Given the description of an element on the screen output the (x, y) to click on. 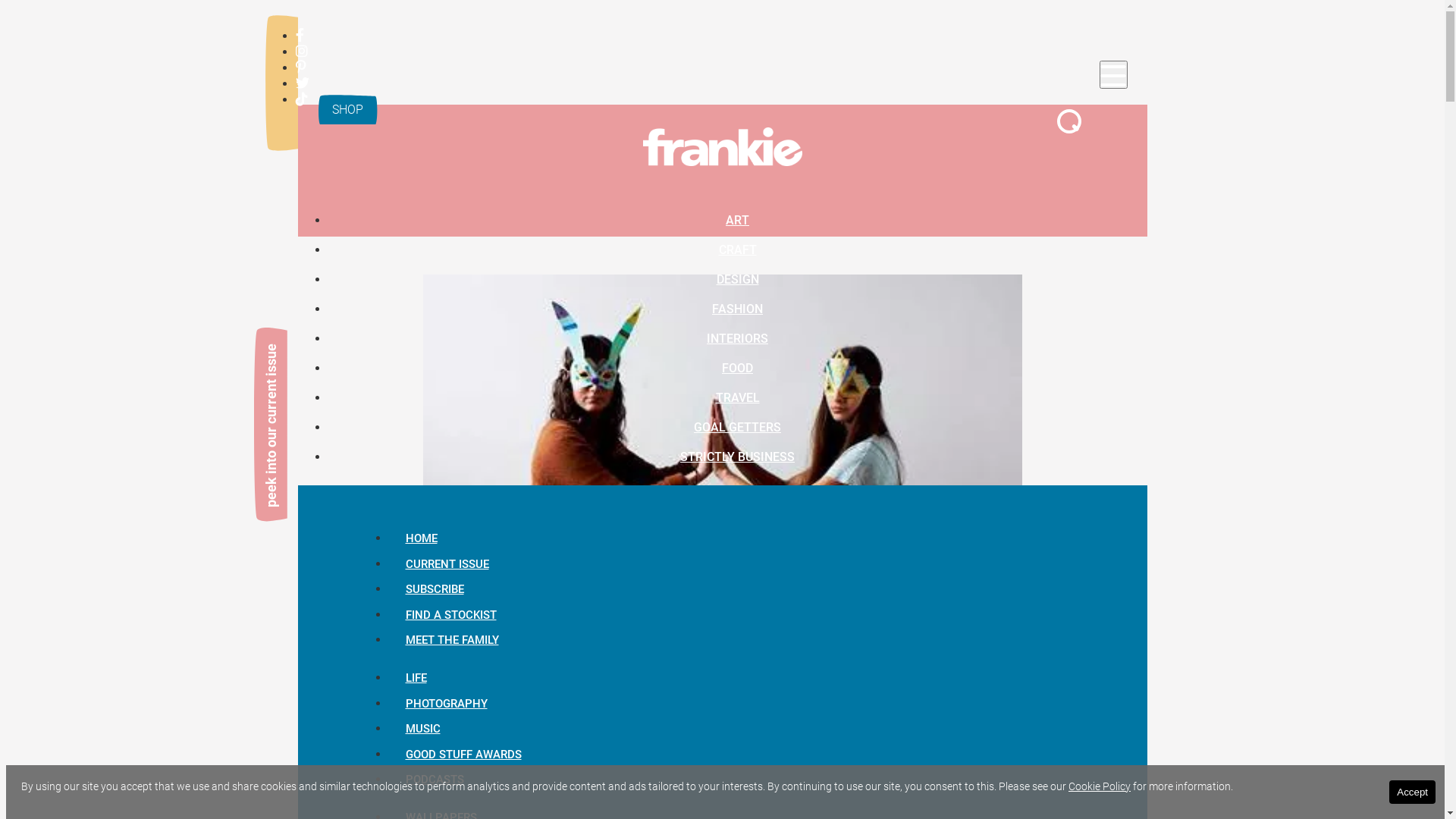
FOOD Element type: text (737, 366)
ART Element type: text (737, 219)
INTERIORS Element type: text (737, 337)
TRAVEL Element type: text (737, 396)
craft Element type: text (558, 757)
DESIGN Element type: text (736, 278)
FASHION Element type: text (736, 307)
SUBSCRIBE Element type: text (434, 588)
MEET THE FAMILY Element type: text (451, 640)
FIND A STOCKIST Element type: text (450, 614)
home Element type: text (467, 757)
PHOTOGRAPHY Element type: text (445, 703)
CURRENT ISSUE Element type: text (446, 563)
Cookie Policy Element type: text (1099, 786)
GOAL GETTERS Element type: text (737, 426)
GOOD STUFF AWARDS Element type: text (462, 754)
LIFE Element type: text (415, 677)
craft Element type: text (469, 803)
CRAFT Element type: text (737, 248)
SHOP Element type: text (346, 109)
splendour in the craft Element type: hover (722, 499)
splendour in the craft Element type: text (630, 757)
MUSIC Element type: text (422, 728)
HOME Element type: text (420, 538)
articles Element type: text (513, 757)
PODCASTS Element type: text (434, 779)
Accept Element type: text (1412, 791)
STRICTLY BUSINESS Element type: text (737, 455)
